Given the description of an element on the screen output the (x, y) to click on. 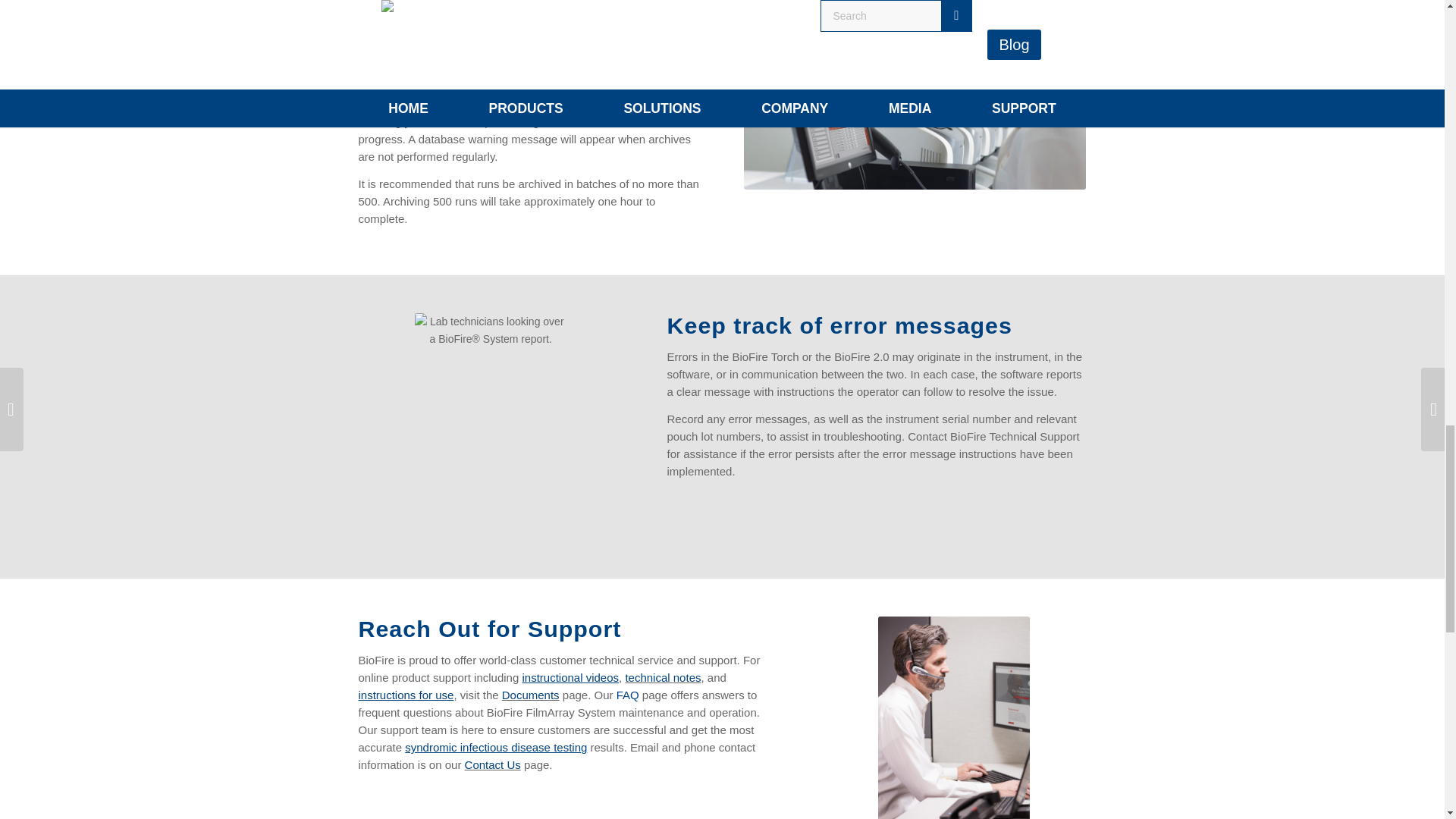
FilmArrayLinkHeader-1024x440 (915, 115)
